Given the description of an element on the screen output the (x, y) to click on. 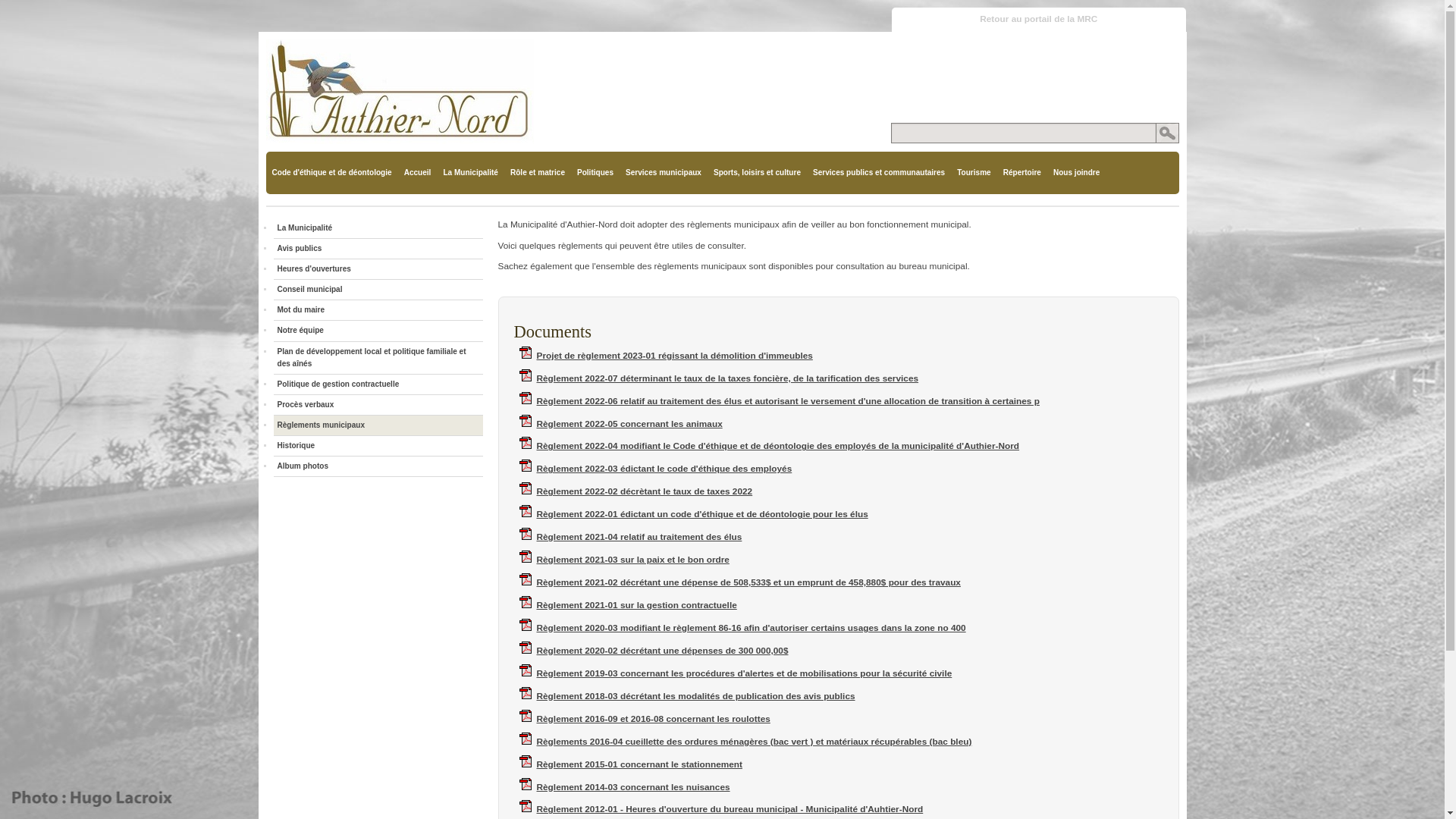
Conseil municipal Element type: text (378, 289)
Mot du maire Element type: text (378, 310)
Services municipaux Element type: text (663, 172)
Tourisme Element type: text (973, 172)
Historique Element type: text (378, 445)
Accueil Element type: text (417, 172)
Politique de gestion contractuelle Element type: text (378, 384)
Avis publics Element type: text (378, 248)
Album photos Element type: text (378, 466)
Services publics et communautaires Element type: text (878, 172)
Sports, loisirs et culture Element type: text (756, 172)
Retour au portail de la MRC Element type: text (1038, 19)
Heures d'ouvertures Element type: text (378, 269)
Nous joindre Element type: text (1076, 172)
Politiques Element type: text (595, 172)
